Given the description of an element on the screen output the (x, y) to click on. 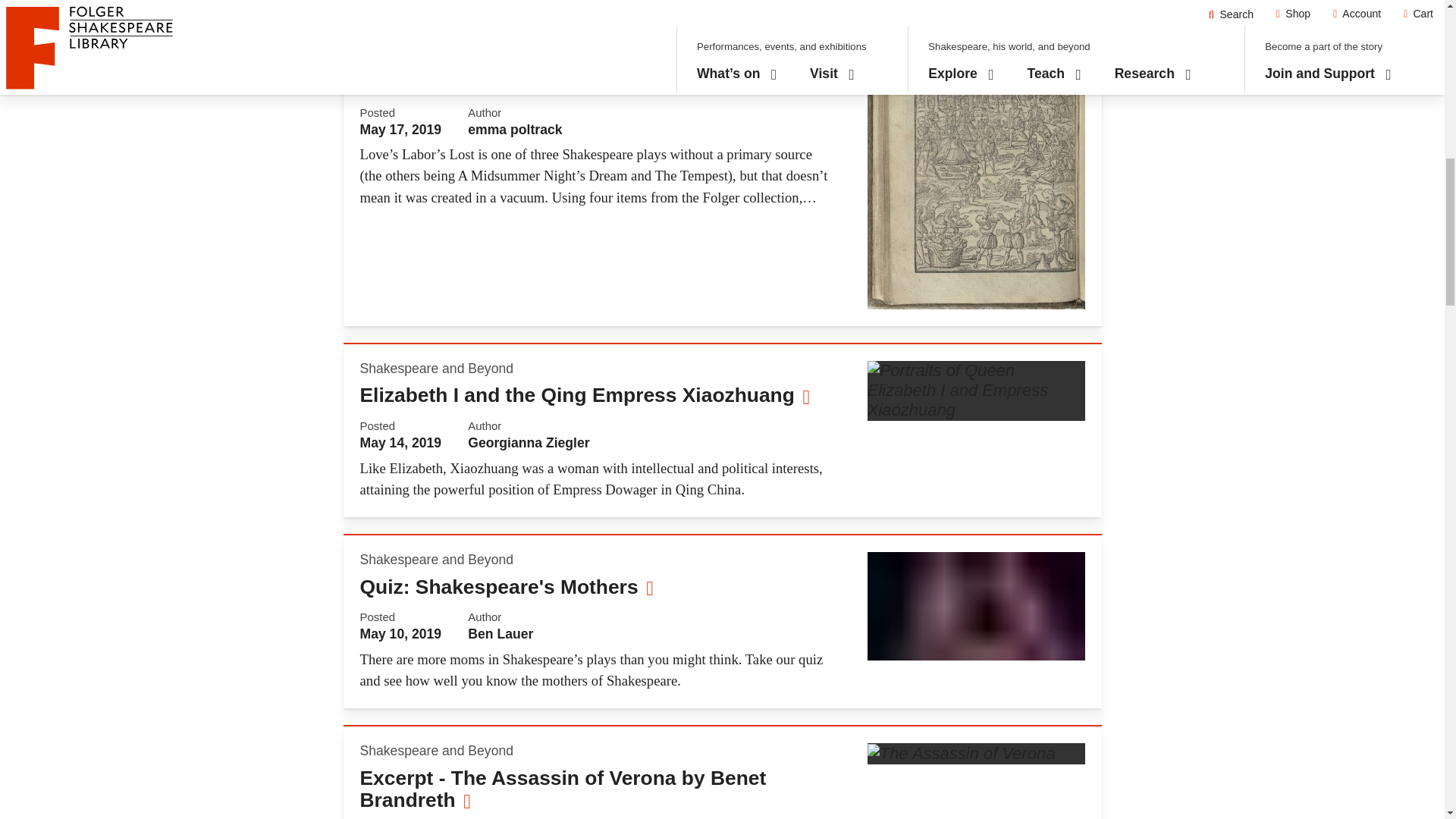
The Winters Tale at Folger Theatre, 2018. (975, 606)
Portraits of Queen Elizabeth I and Empress Xiaozhuang (975, 390)
The Assassin of Verona (961, 753)
